Given the description of an element on the screen output the (x, y) to click on. 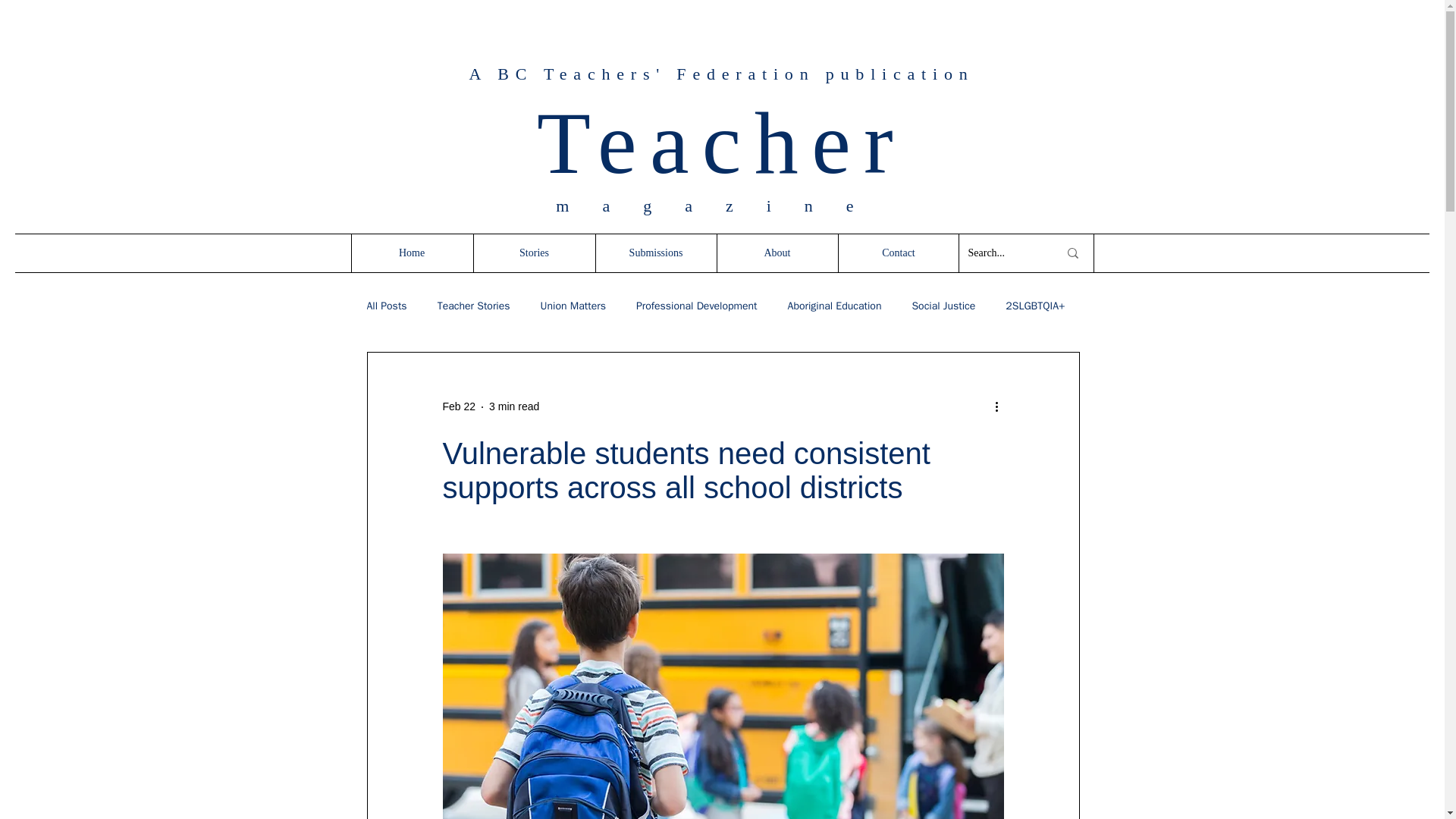
Teacher Stories (474, 305)
Submissions (655, 252)
All Posts (386, 305)
Professional Development (696, 305)
3 min read (513, 406)
About (776, 252)
Feb 22 (459, 406)
Aboriginal Education (834, 305)
Union Matters (572, 305)
Social Justice (943, 305)
